Given the description of an element on the screen output the (x, y) to click on. 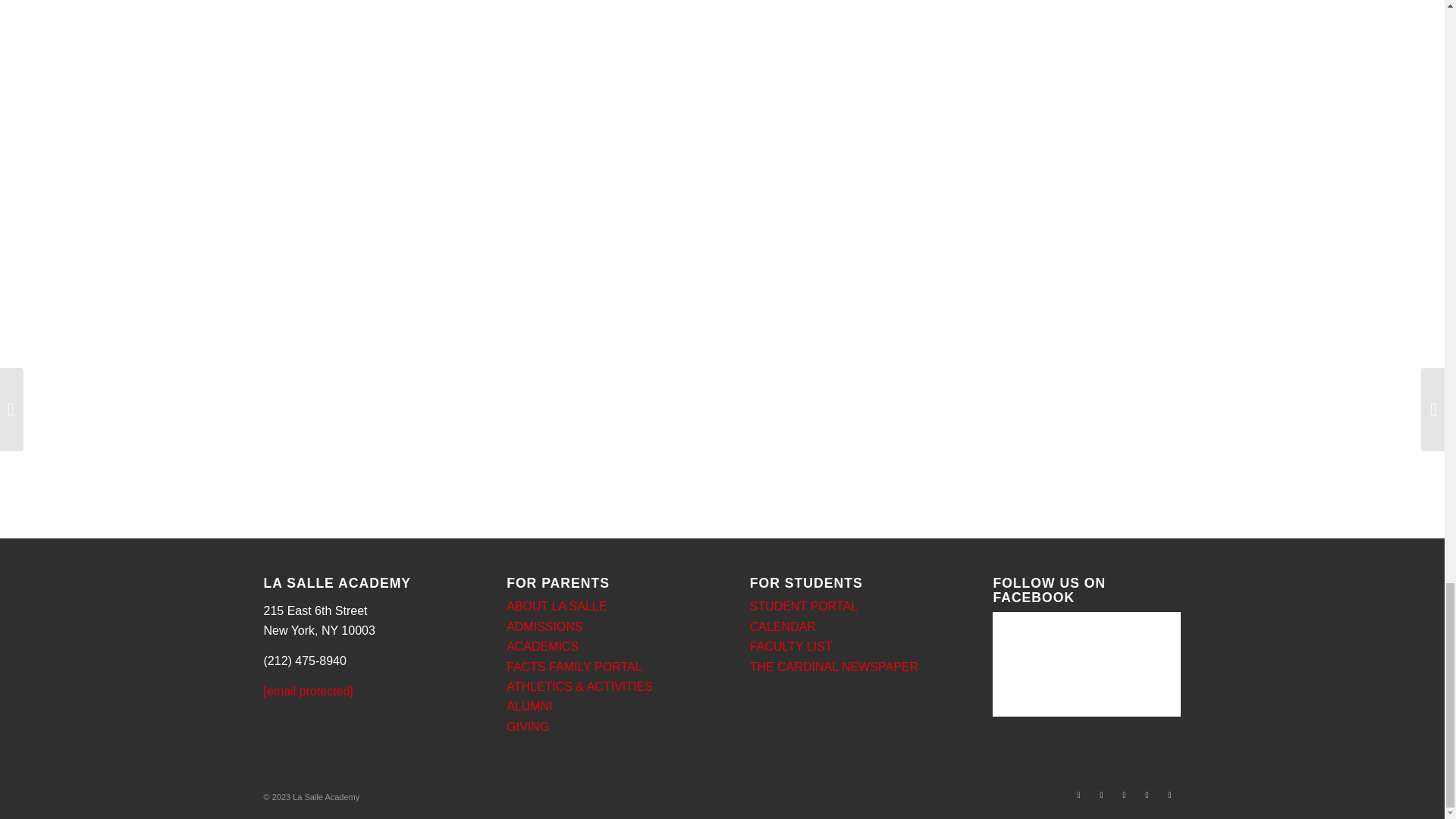
Twitter (1078, 793)
fb:page Facebook Social Plugin (1082, 660)
